Given the description of an element on the screen output the (x, y) to click on. 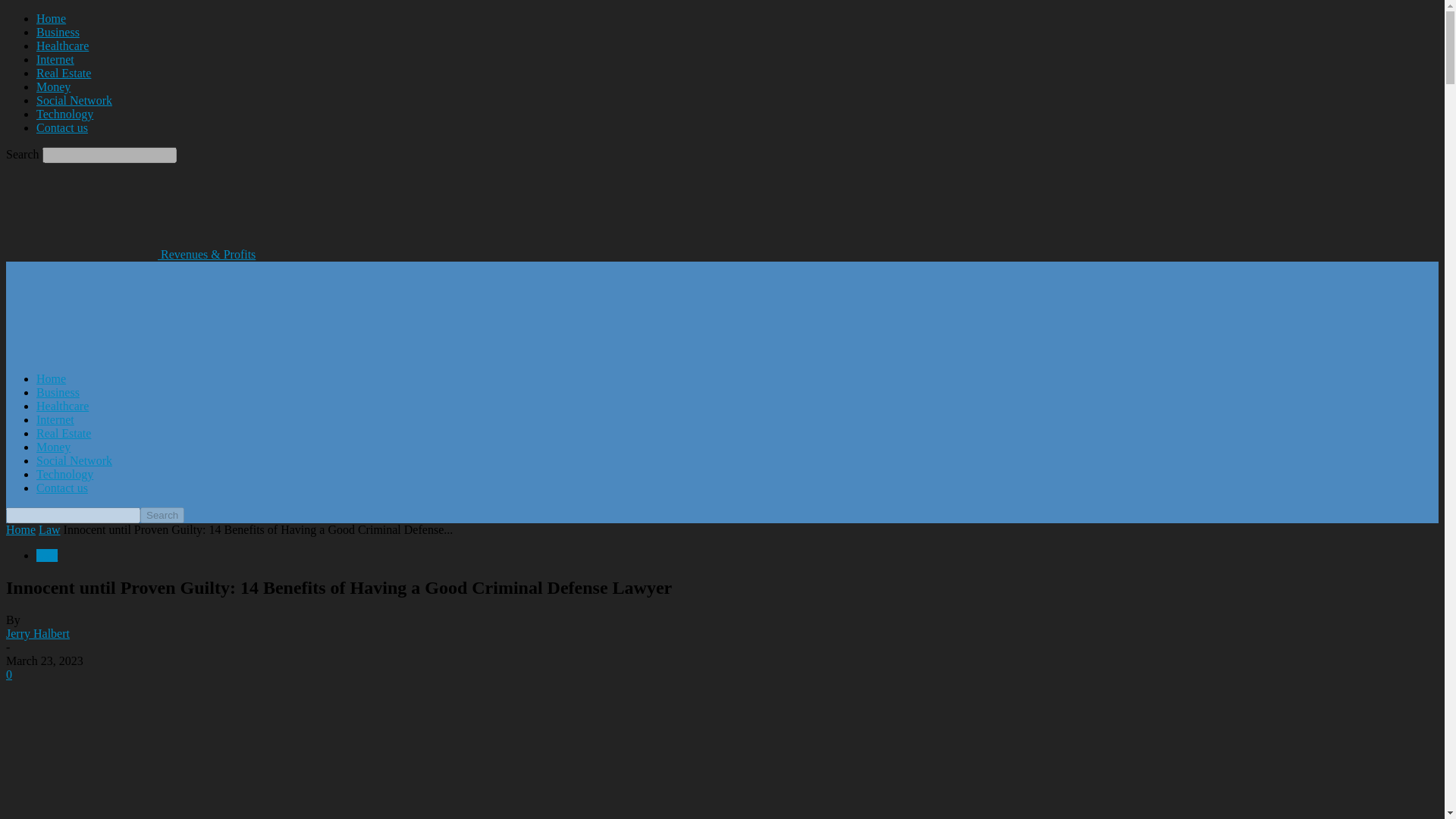
Law (49, 529)
Contact us (61, 127)
Social Network (74, 100)
Home (19, 529)
Internet (55, 419)
Home (50, 378)
Technology (64, 473)
Search (161, 514)
Home (50, 18)
Contact us (61, 487)
